Given the description of an element on the screen output the (x, y) to click on. 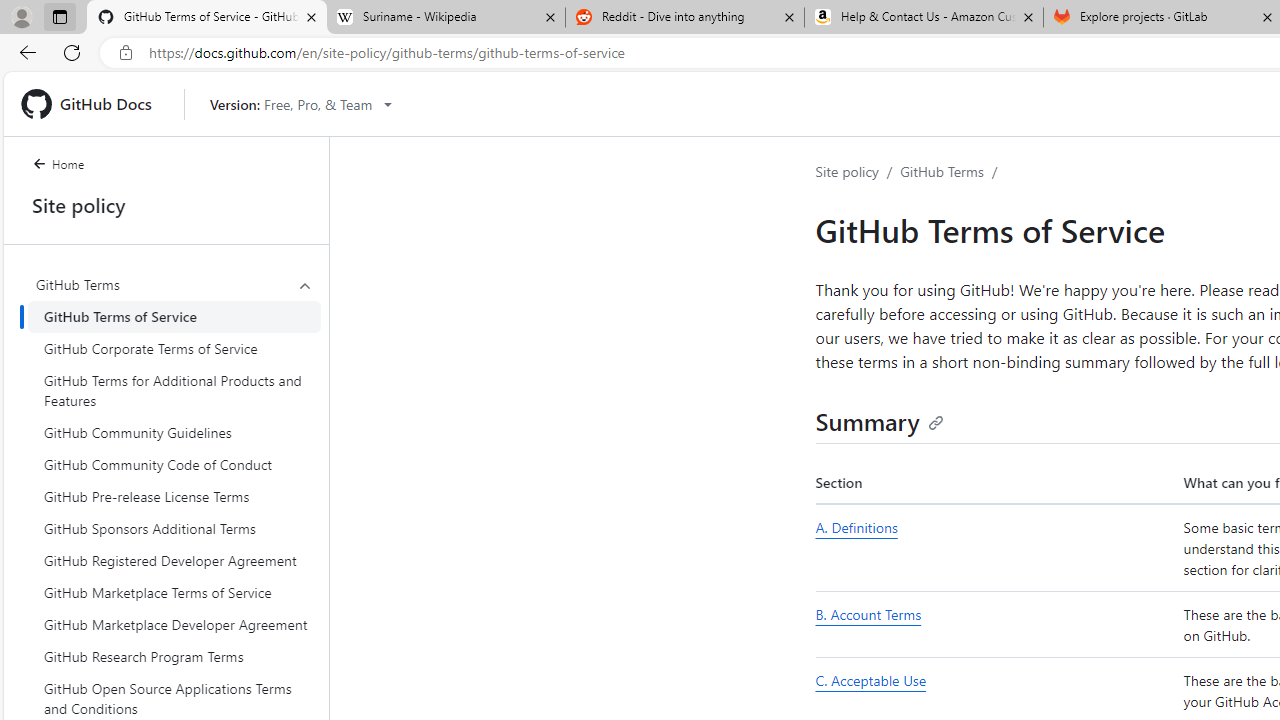
GitHub Corporate Terms of Service (174, 348)
